Given the description of an element on the screen output the (x, y) to click on. 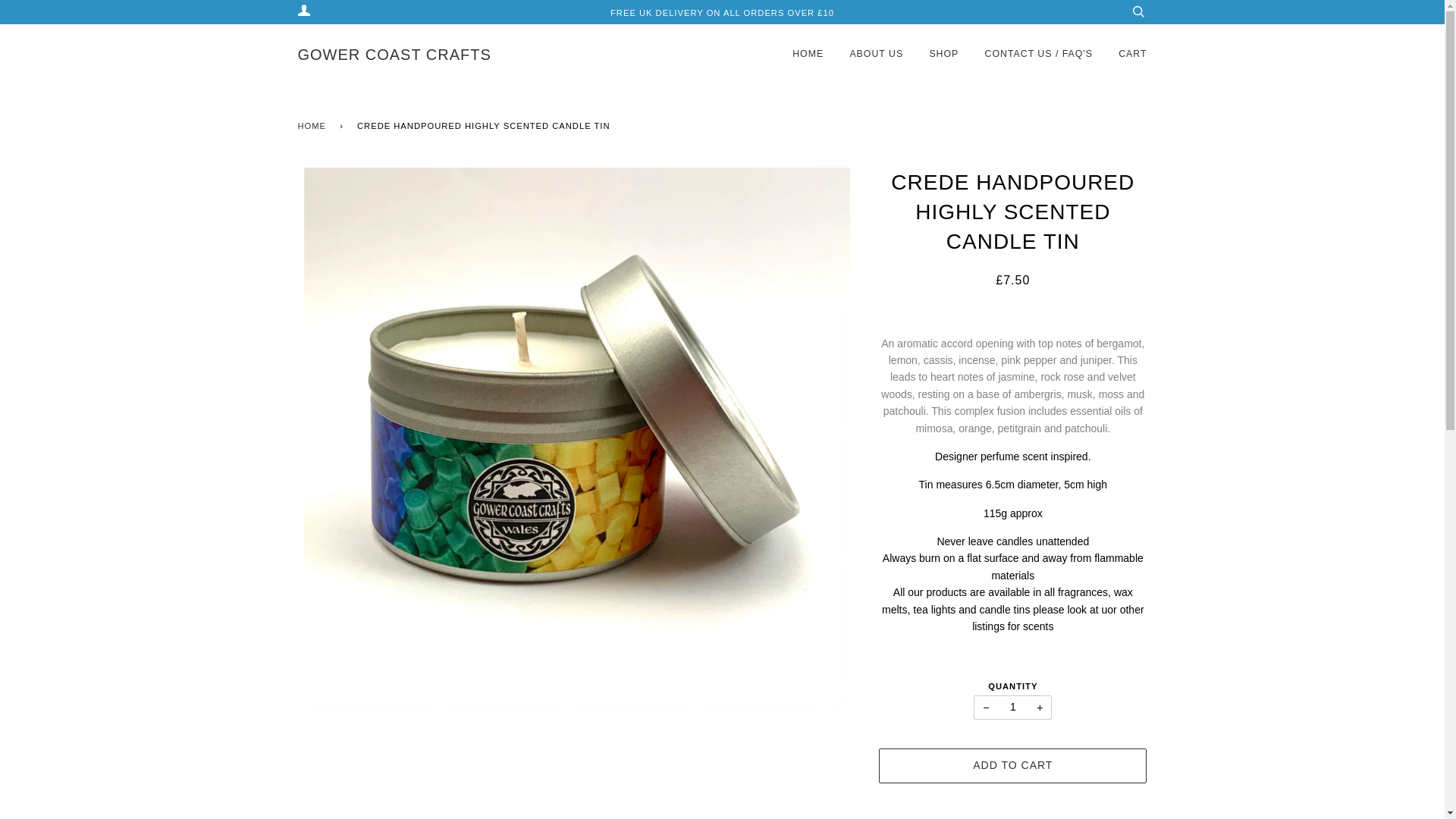
Back to the frontpage (314, 126)
GOWER COAST CRAFTS (393, 54)
1 (1012, 707)
